Given the description of an element on the screen output the (x, y) to click on. 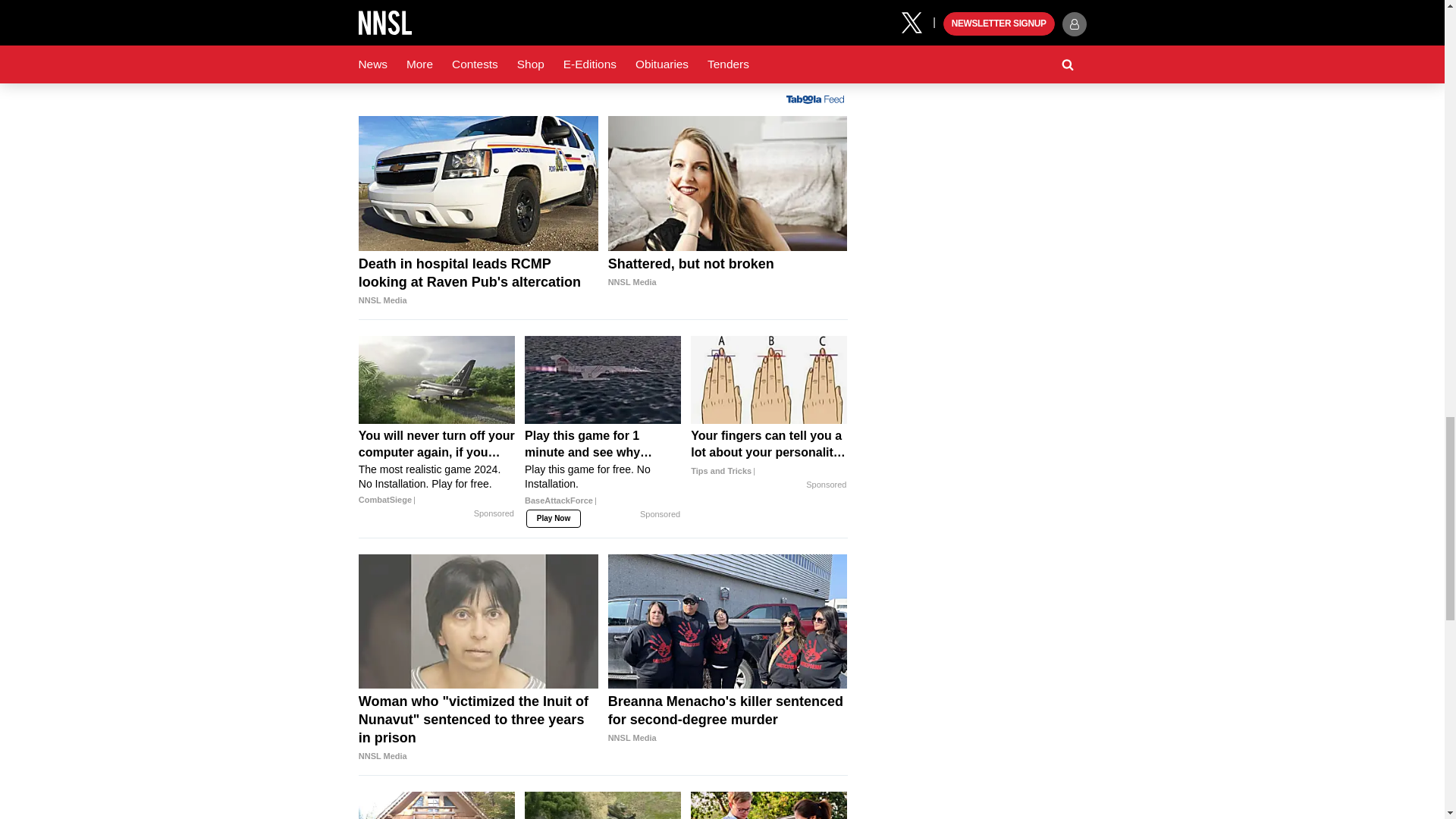
Show Comments (602, 49)
Shattered, but not broken (727, 183)
Shattered, but not broken (727, 272)
